Given the description of an element on the screen output the (x, y) to click on. 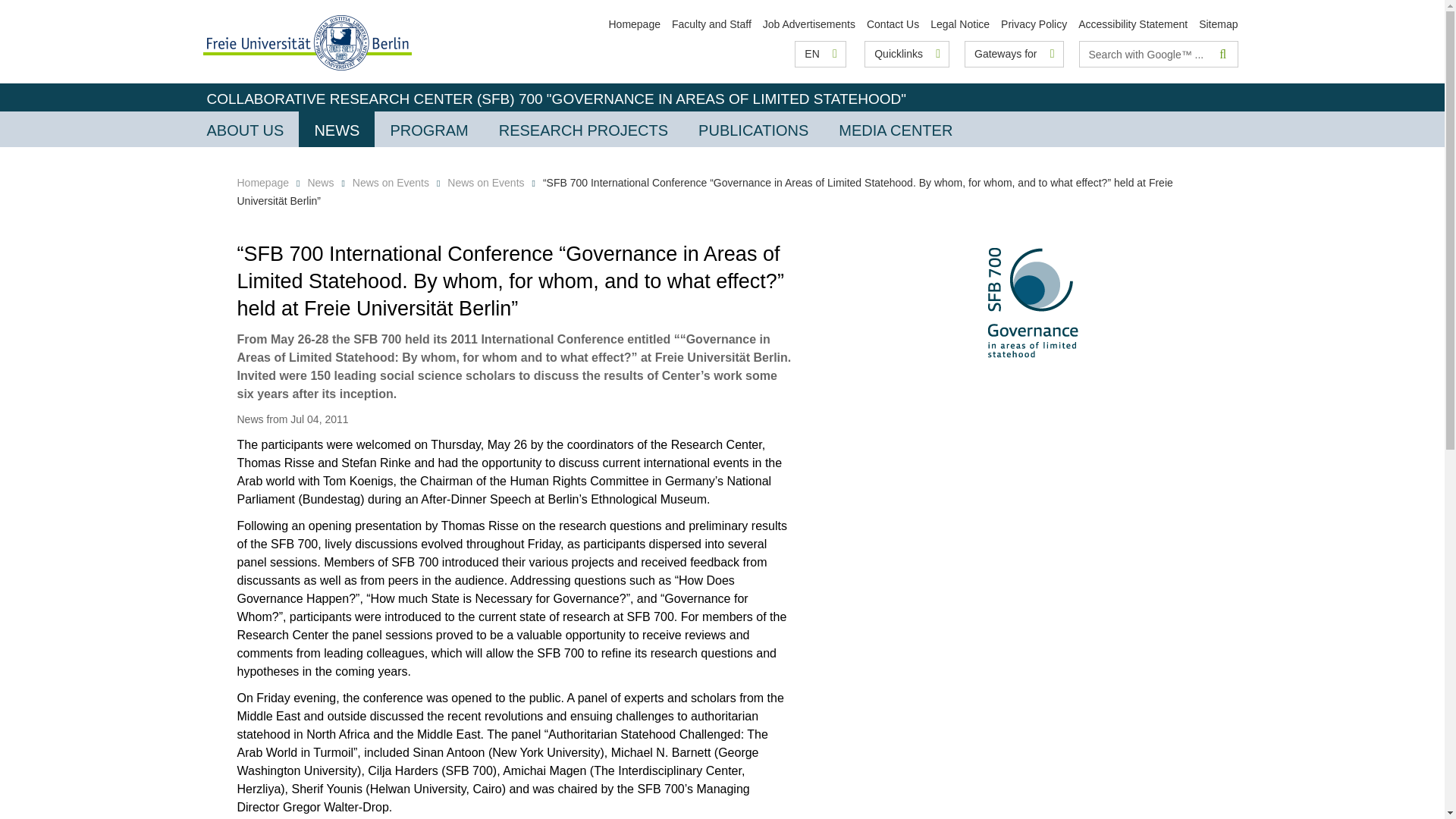
Legal Notice (960, 24)
Sitemap (1217, 24)
Accessibility Statement (1133, 24)
Privacy Policy (1034, 24)
Job Advertisements (809, 24)
Faculty and Staff (711, 24)
Homepage (634, 24)
Contact Us (892, 24)
